Given the description of an element on the screen output the (x, y) to click on. 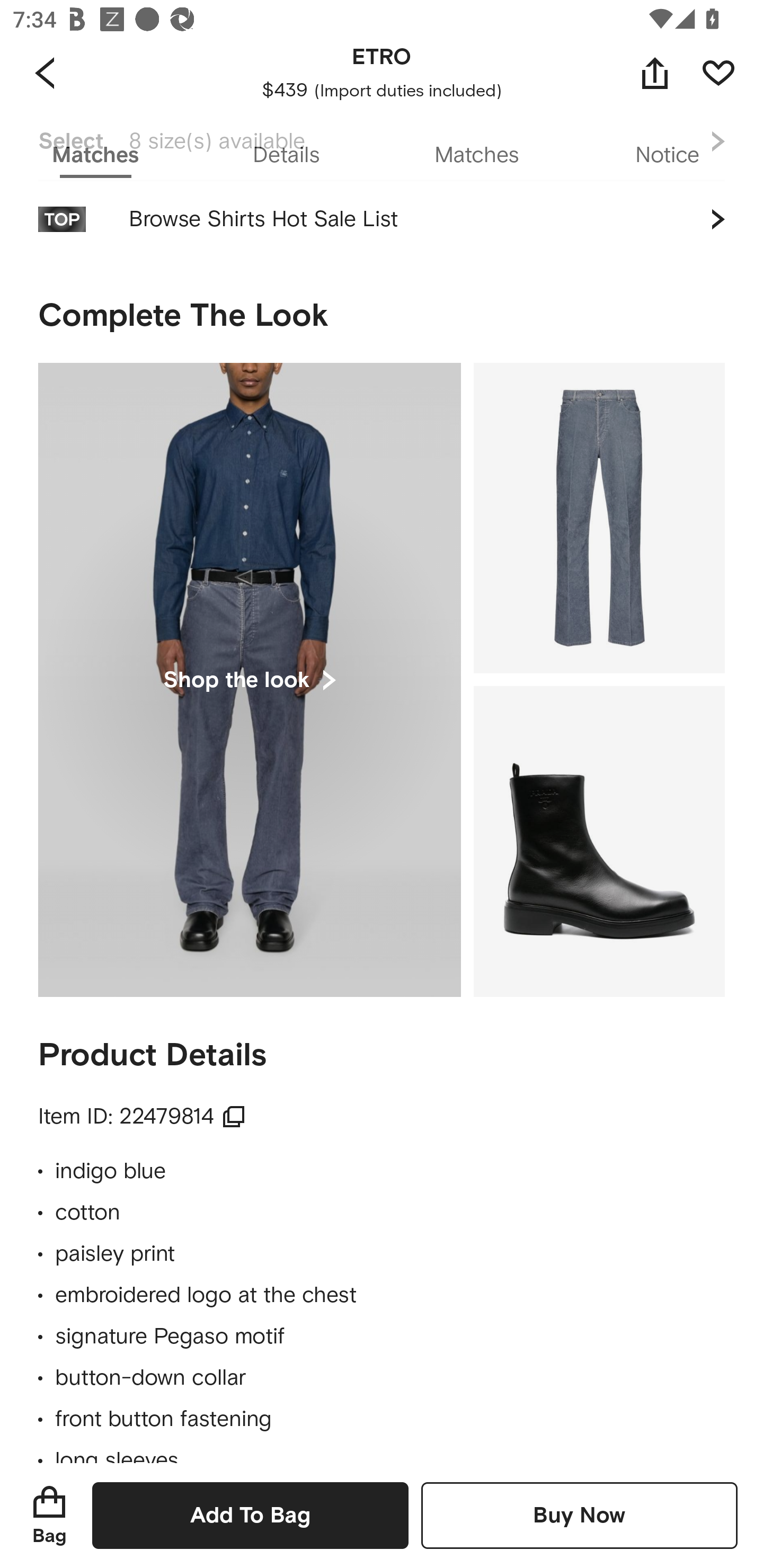
Details (285, 155)
Matches (476, 155)
Notice (667, 155)
Browse Shirts Hot Sale List (381, 230)
Item ID: 22479814 (142, 1117)
Bag (49, 1515)
Add To Bag (250, 1515)
Buy Now (579, 1515)
